Given the description of an element on the screen output the (x, y) to click on. 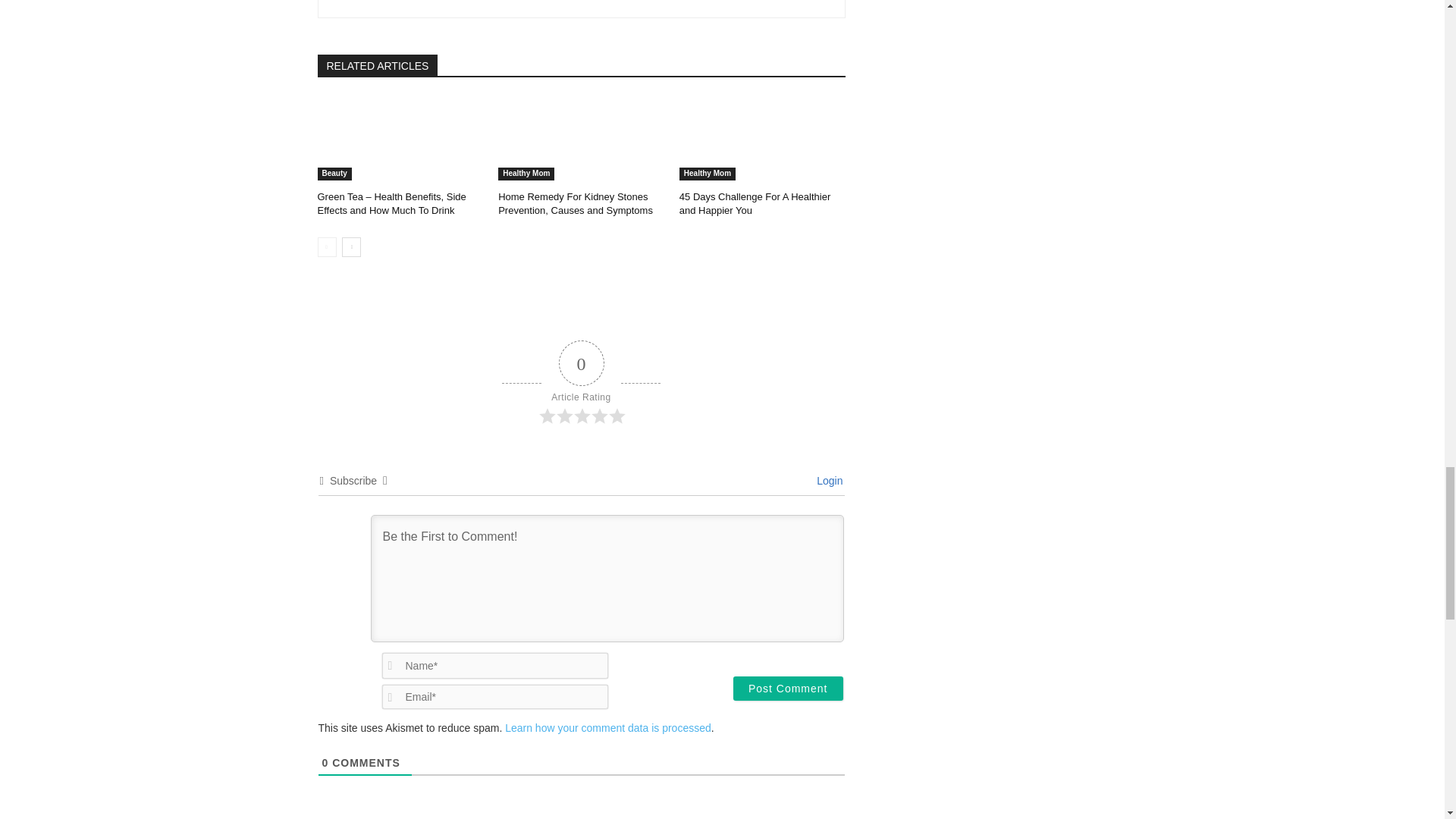
Post Comment (788, 688)
